Given the description of an element on the screen output the (x, y) to click on. 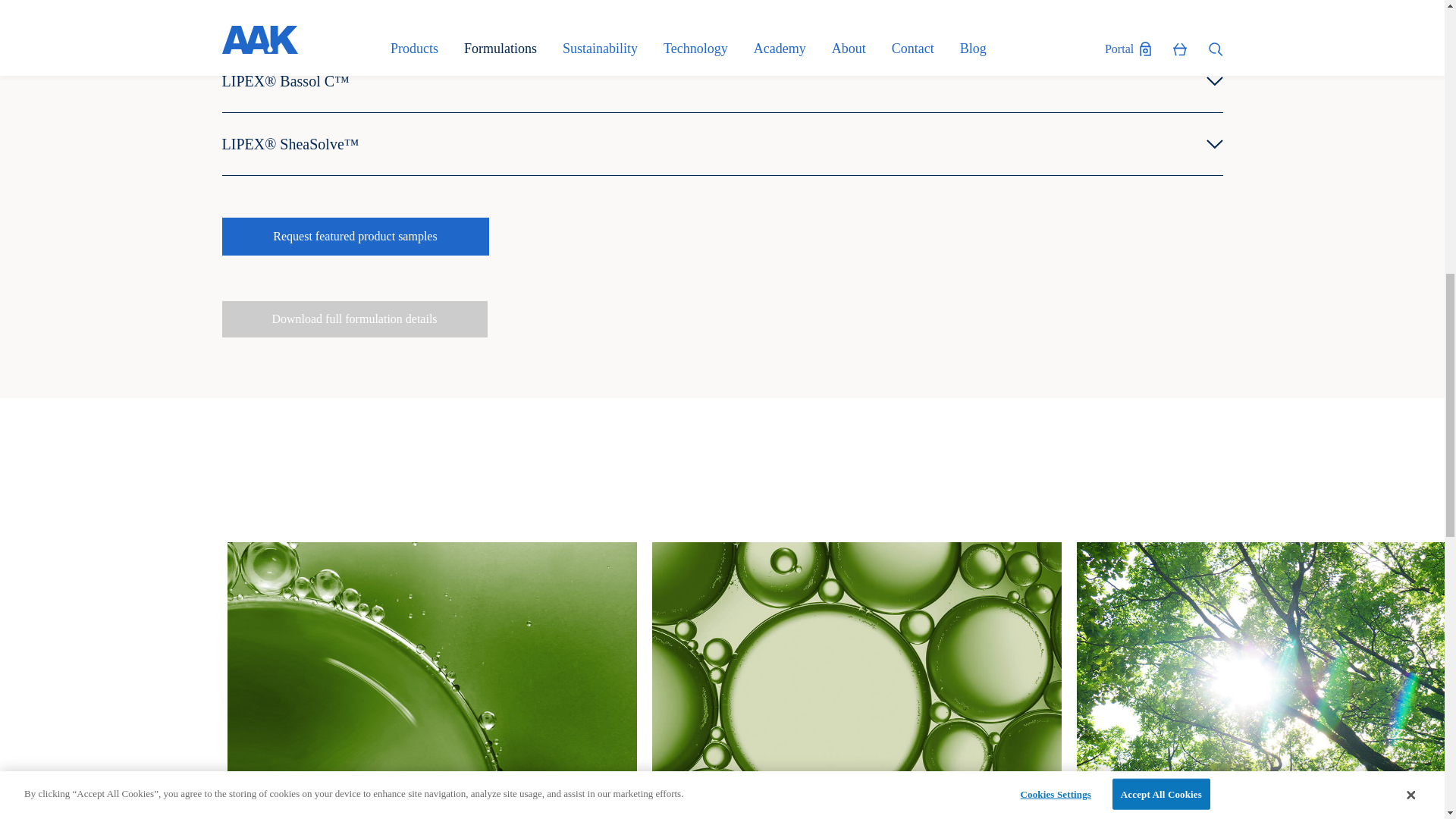
Request featured product samples (354, 236)
Download full formulation details (353, 319)
